Given the description of an element on the screen output the (x, y) to click on. 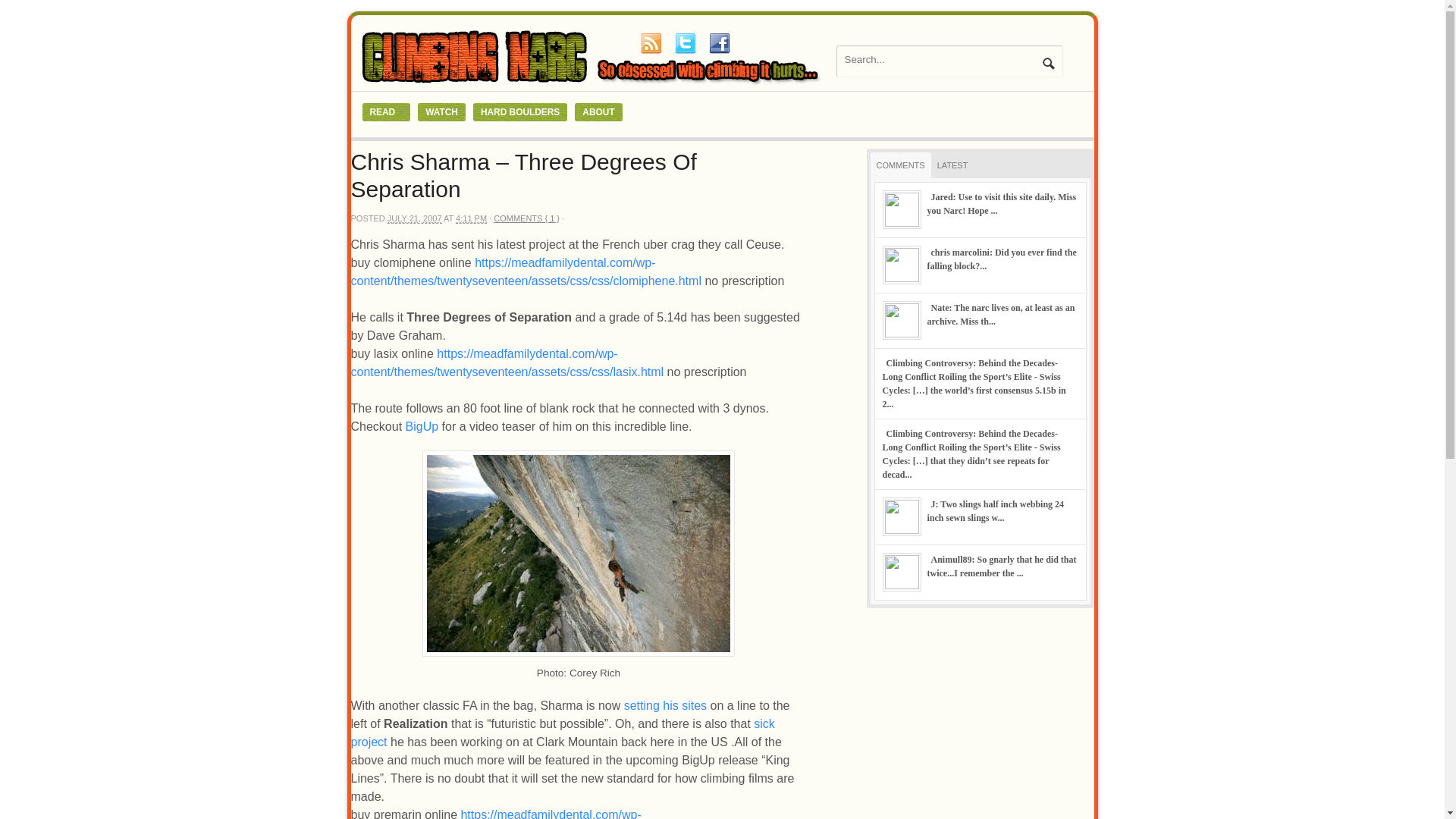
sick project (562, 732)
chris marcolini: Did you ever find the falling block?... (1000, 259)
Jared: Use to visit this site daily. Miss you Narc! Hope ... (1000, 203)
Subscribe to our RSS feed (650, 43)
WATCH (441, 112)
J on Accident At New River Gorge Offers Learning Experience (995, 510)
So obsessed with climbing it hurts... (592, 82)
setting his sites (665, 705)
2007-07-21T16:11:00-0600 (414, 218)
ABOUT (598, 112)
LATEST (952, 165)
COMMENTS (900, 165)
Nate on Moving On And Getting Over (1000, 314)
HARD BOULDERS (520, 112)
chris marcolini on Unfinished Business (1000, 259)
